Given the description of an element on the screen output the (x, y) to click on. 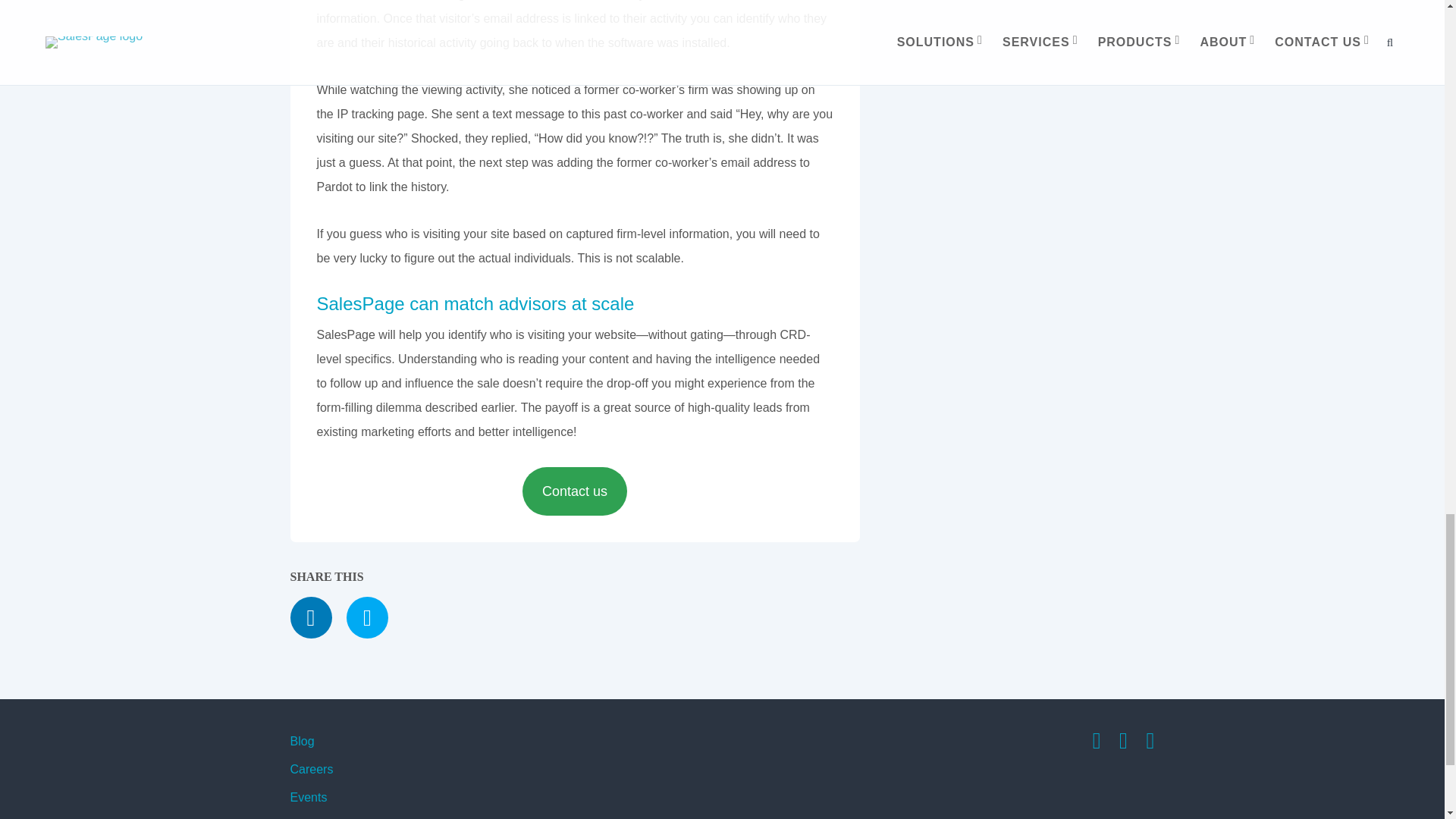
Blog (301, 740)
Contact us (574, 490)
Careers (311, 768)
